Given the description of an element on the screen output the (x, y) to click on. 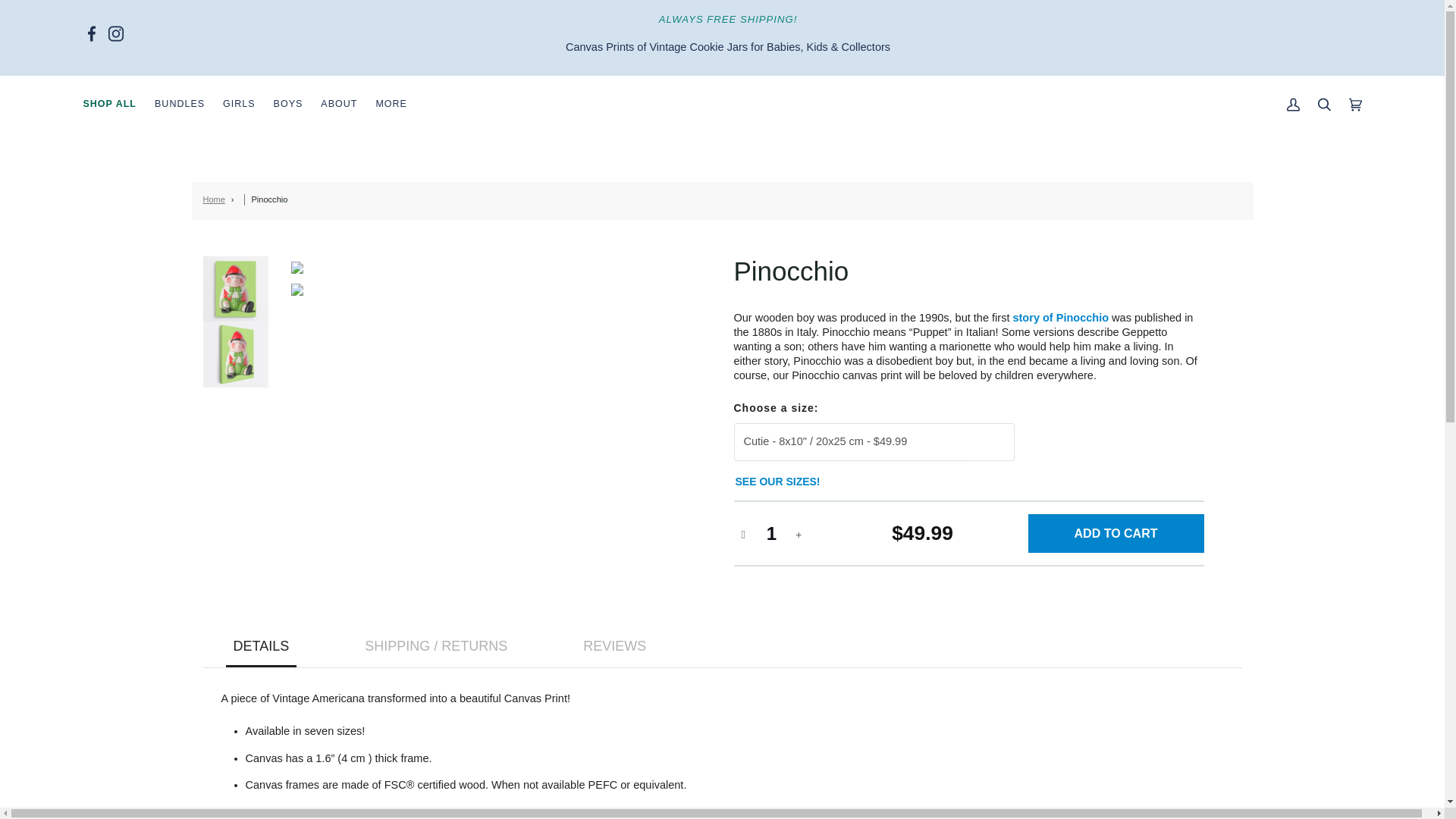
ABOUT (338, 104)
1 (771, 533)
Home (214, 198)
BUNDLES (179, 104)
SHOP ALL (110, 104)
